Given the description of an element on the screen output the (x, y) to click on. 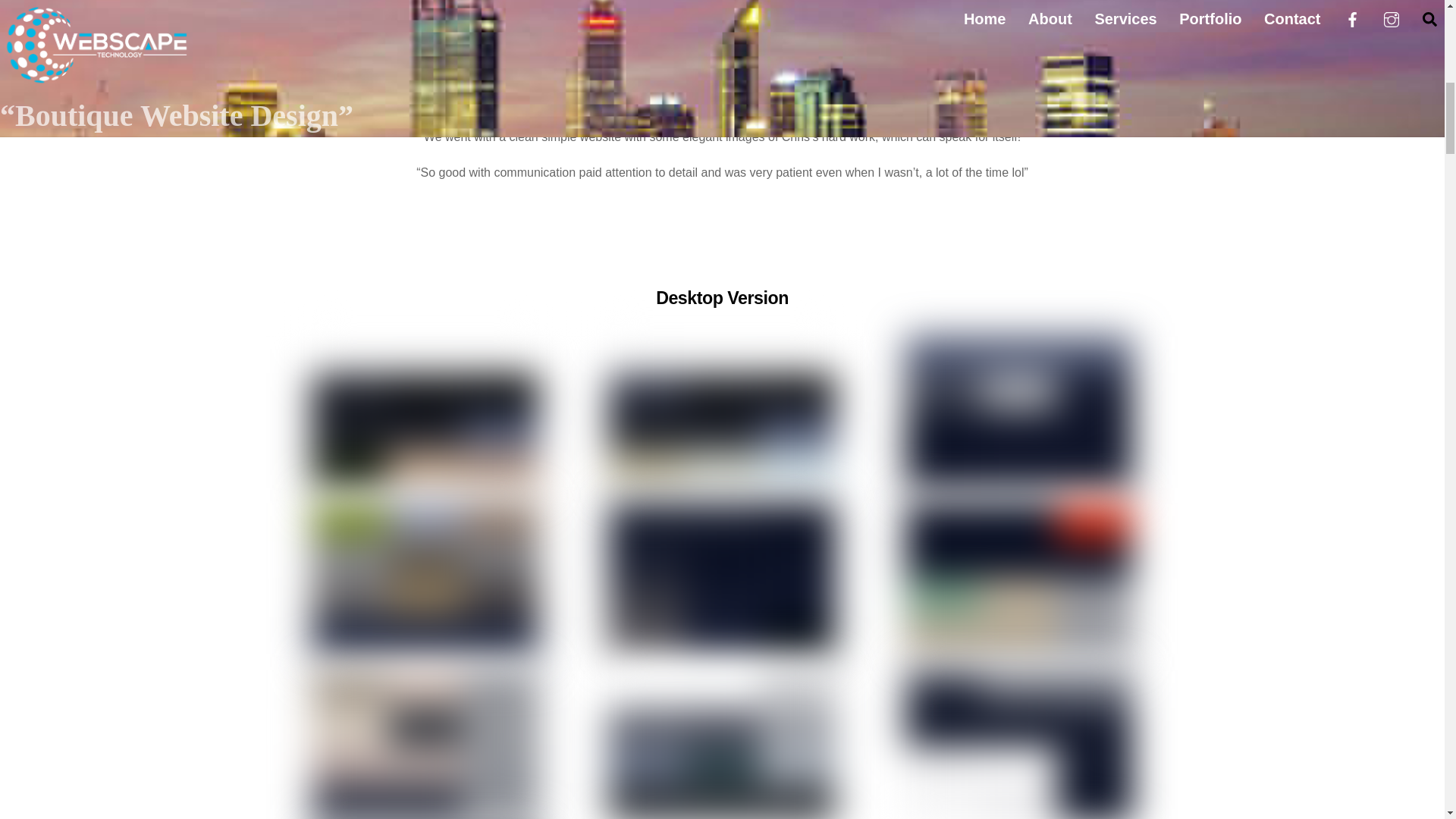
Screenshot 2024-08-05 160924 (721, 411)
ADMIN (529, 51)
Graphic Design (653, 51)
Image Design (731, 51)
Screenshot 2024-08-05 160906 (424, 411)
Elementor (585, 51)
Screenshot 2024-08-05 161024 (721, 578)
Screenshot 2024-08-05 160943 (1018, 411)
Screenshot 2024-08-05 161057 (1018, 578)
Screenshot 2024-08-05 161001 (424, 578)
